Given the description of an element on the screen output the (x, y) to click on. 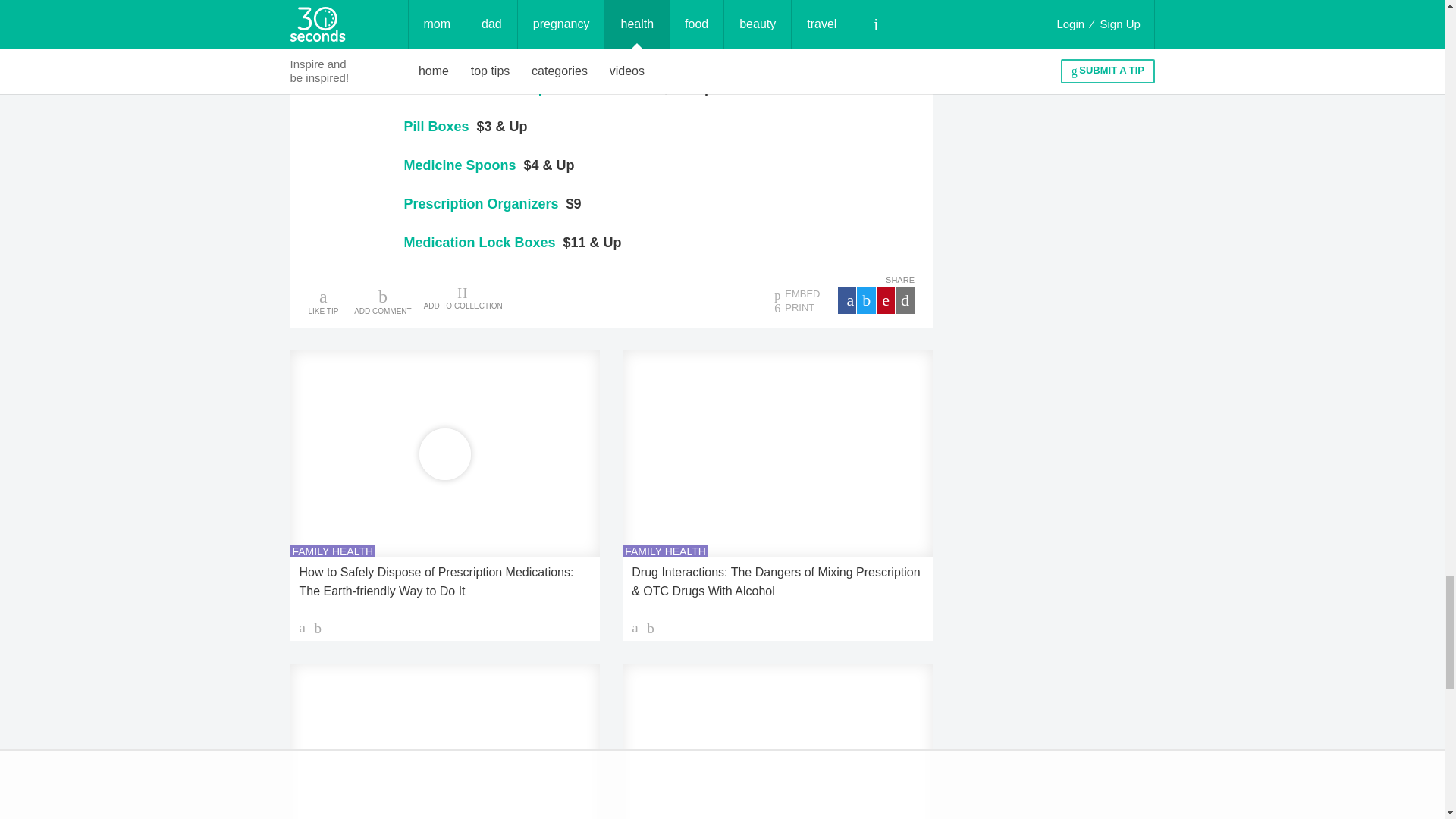
ADD COMMENT (382, 300)
